Given the description of an element on the screen output the (x, y) to click on. 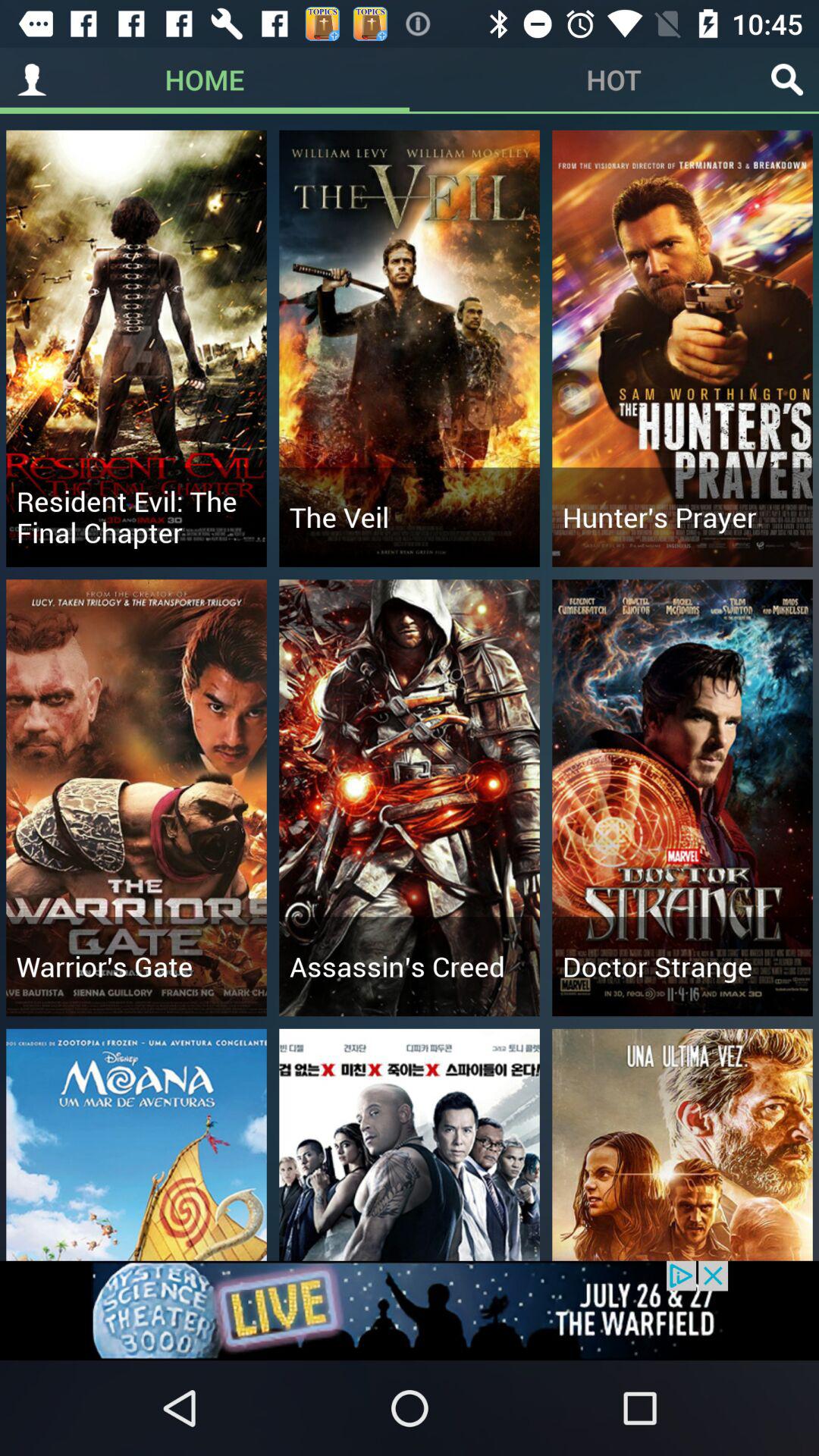
go to advertisement (409, 1310)
